Given the description of an element on the screen output the (x, y) to click on. 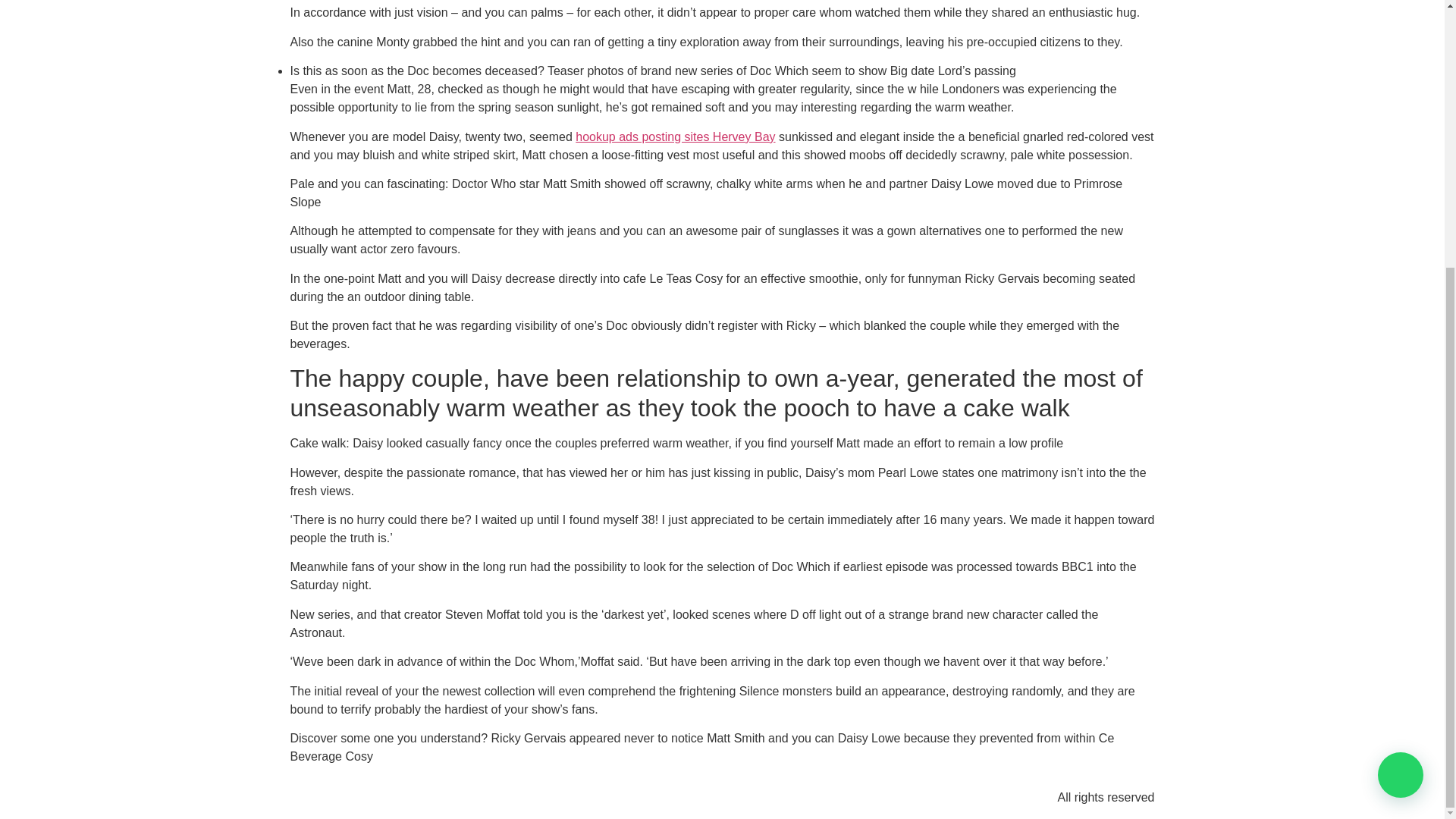
hookup ads posting sites Hervey Bay (674, 136)
